Given the description of an element on the screen output the (x, y) to click on. 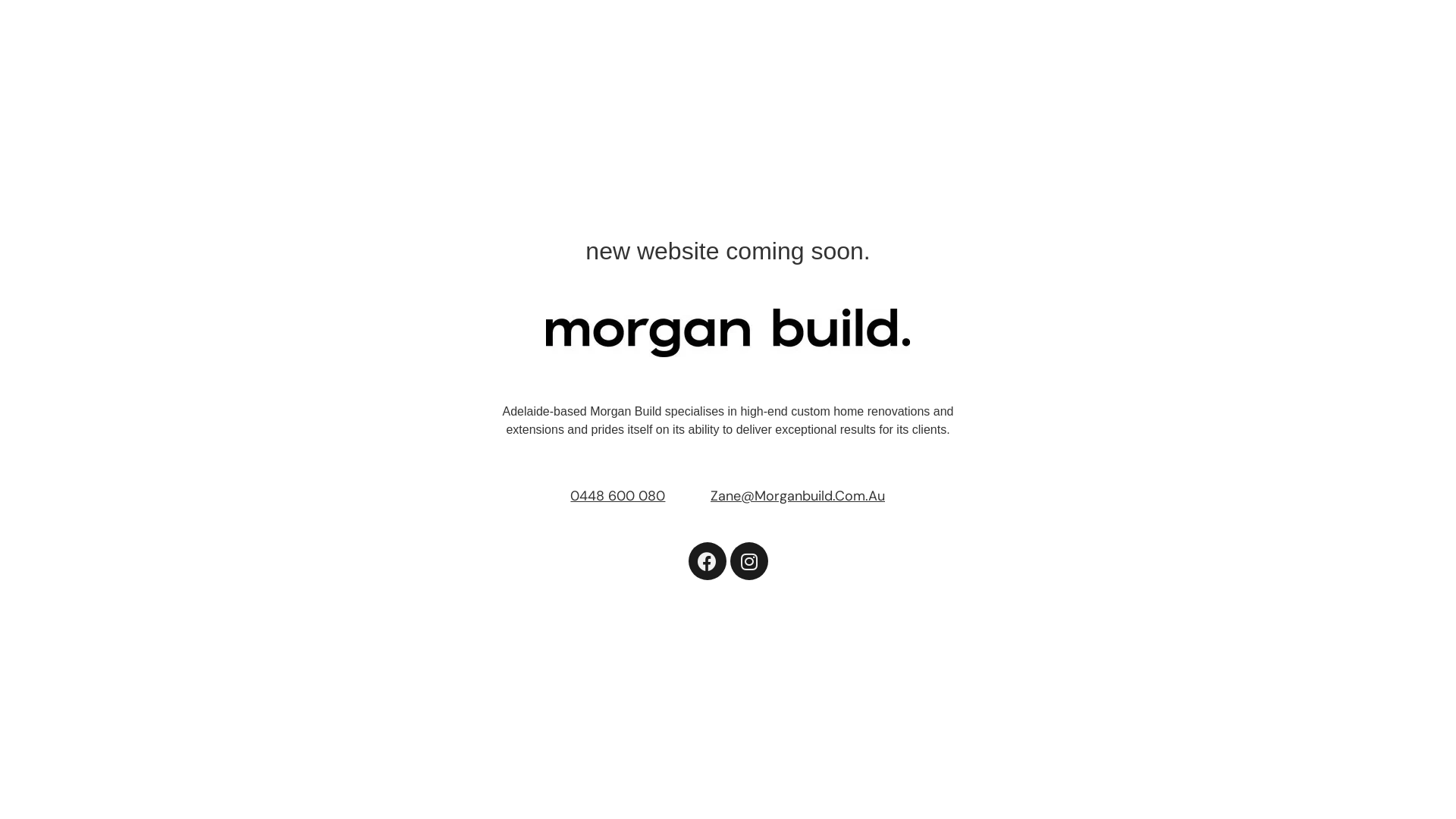
Zane@Morganbuild.Com.Au Element type: text (797, 495)
0448 600 080 Element type: text (617, 495)
